Given the description of an element on the screen output the (x, y) to click on. 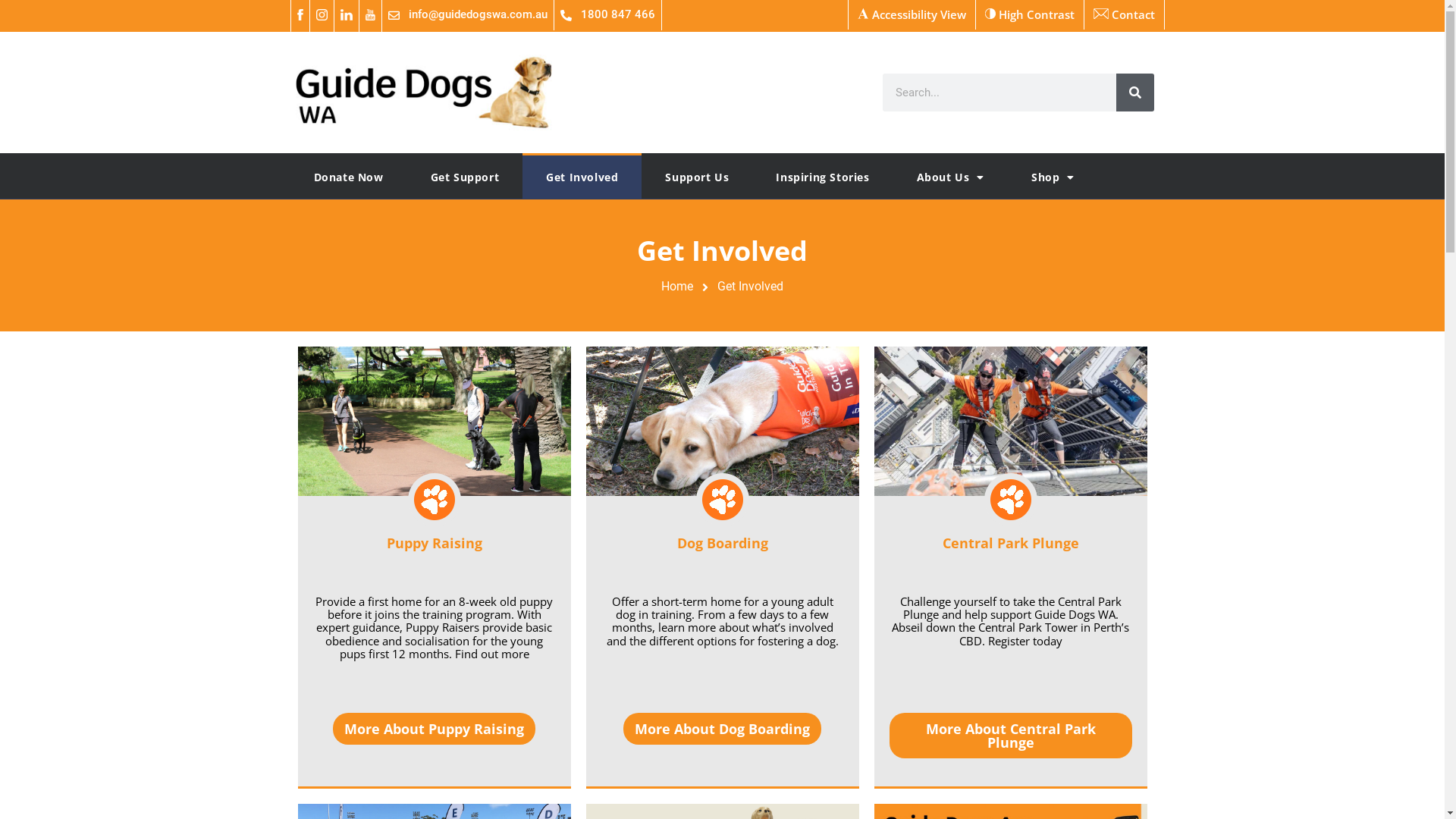
Donate Now Element type: text (347, 175)
Shop Element type: text (1052, 175)
More About Central Park Plunge Element type: text (1009, 735)
Inspiring Stories Element type: text (822, 175)
About Us Element type: text (950, 175)
Guide Dogs WA Logo Element type: hover (585, 92)
Get Support Element type: text (464, 175)
info@guidedogswa.com.au Element type: text (468, 15)
More About Puppy Raising Element type: text (433, 728)
More About Dog Boarding Element type: text (722, 728)
Support Us Element type: text (696, 175)
Get Involved Element type: text (581, 175)
Home Element type: text (677, 286)
1800 847 466 Element type: text (607, 15)
